Given the description of an element on the screen output the (x, y) to click on. 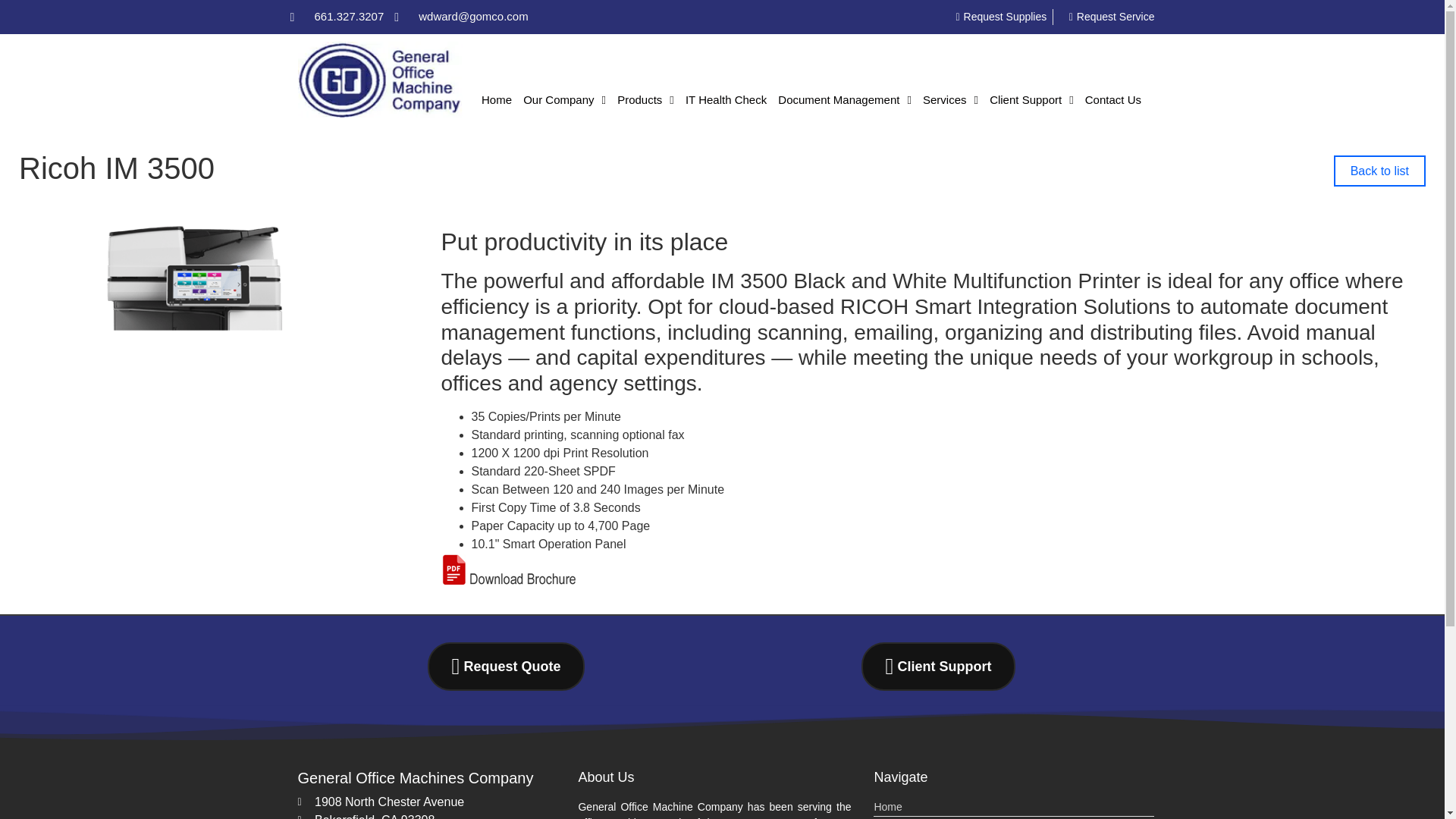
IT Health Check (725, 99)
Our Company (564, 99)
Contact Us (1112, 99)
Services (950, 99)
Client Support (1032, 99)
661.327.3207 (336, 16)
Request Service (1106, 17)
Products (645, 99)
Request Supplies (996, 17)
Document Management (845, 99)
